Given the description of an element on the screen output the (x, y) to click on. 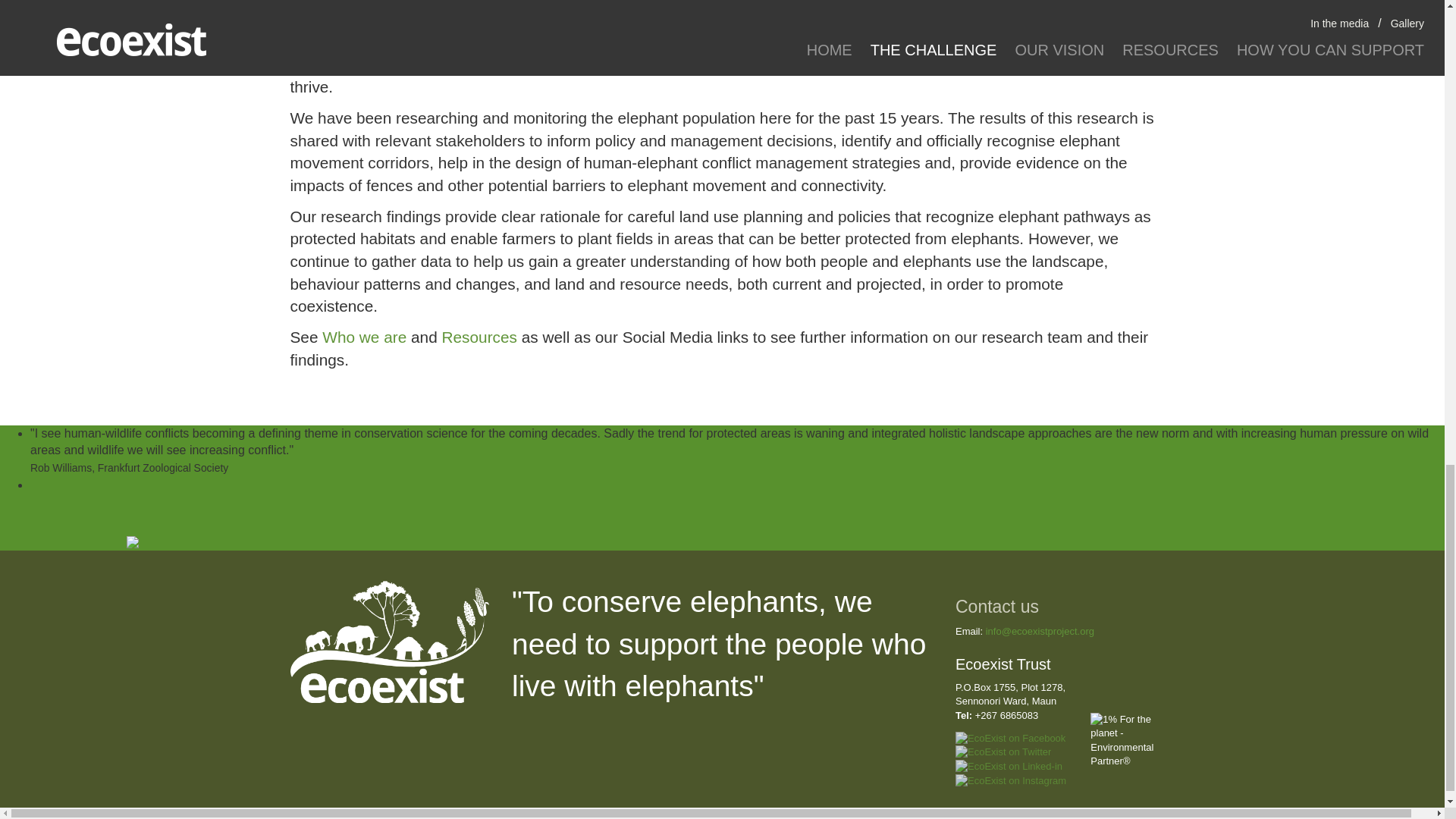
Follow us on Twitter (1003, 752)
Like us on Facebook (1010, 739)
Follow us on Linked-in (1008, 766)
Resources (479, 336)
Who we are (363, 336)
Follow us on Instagram (1010, 780)
